Given the description of an element on the screen output the (x, y) to click on. 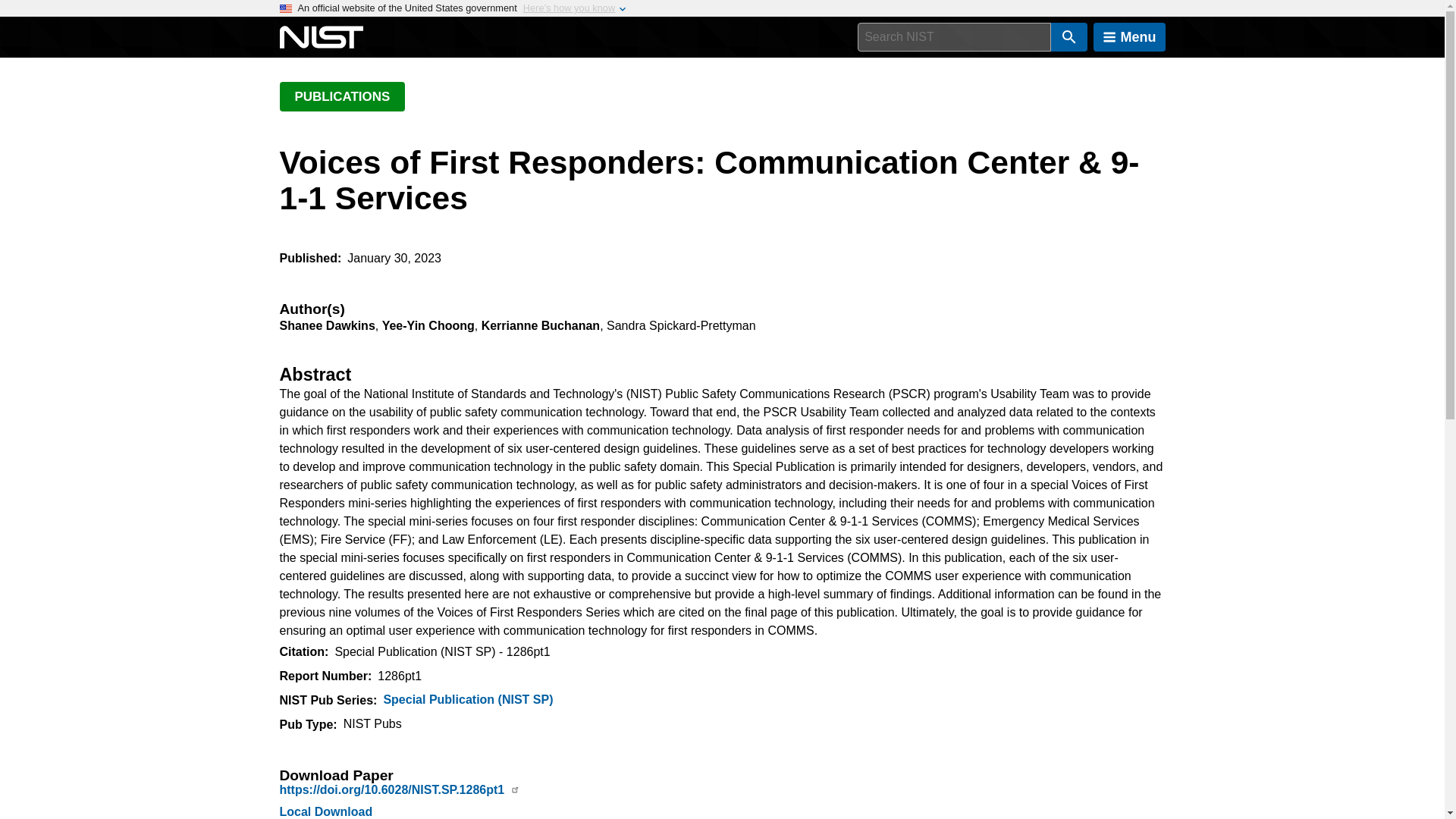
PUBLICATIONS (341, 96)
Menu (1129, 36)
Local Download (325, 811)
National Institute of Standards and Technology (320, 36)
